Given the description of an element on the screen output the (x, y) to click on. 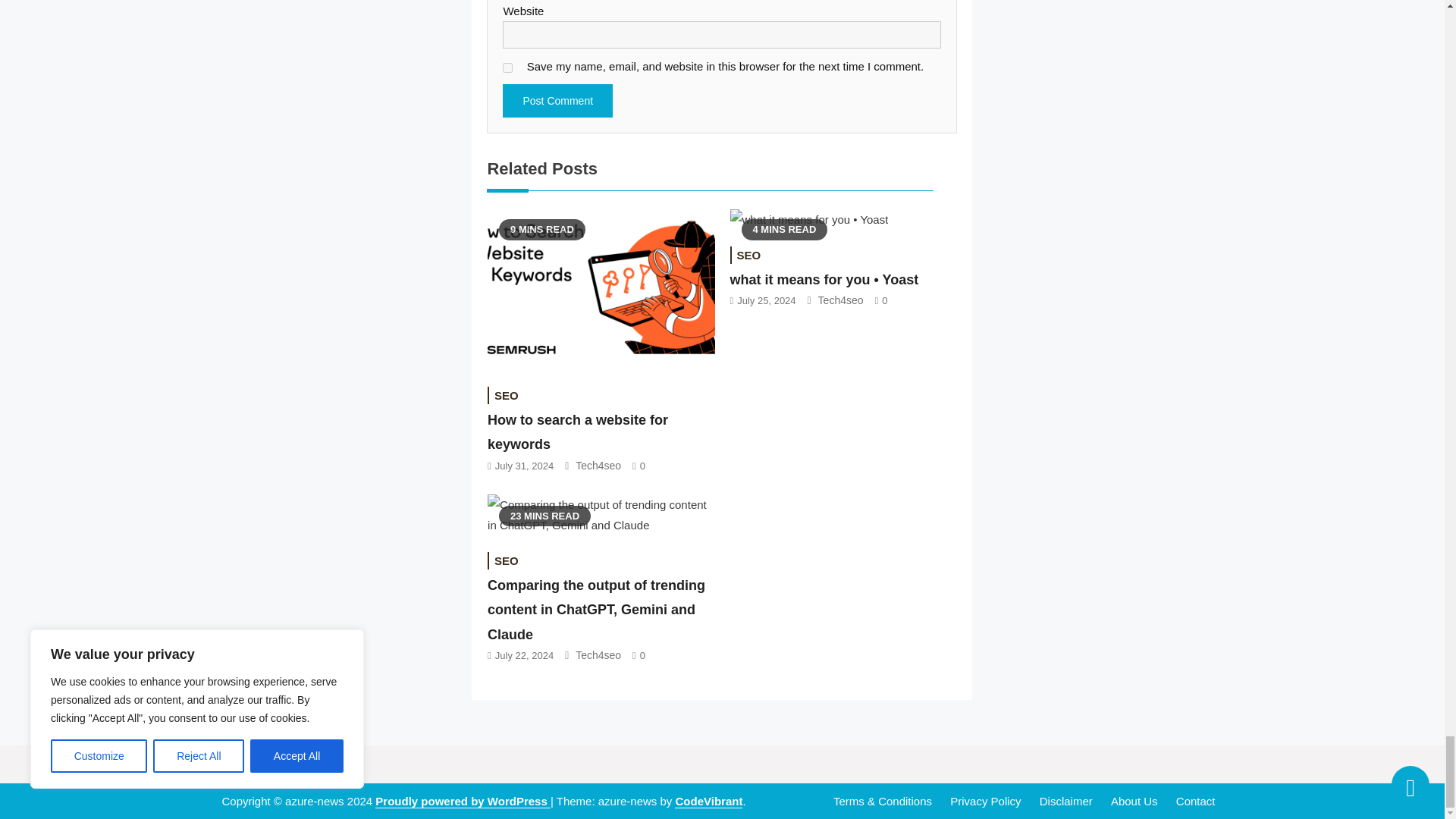
Post Comment (557, 100)
yes (507, 67)
